Given the description of an element on the screen output the (x, y) to click on. 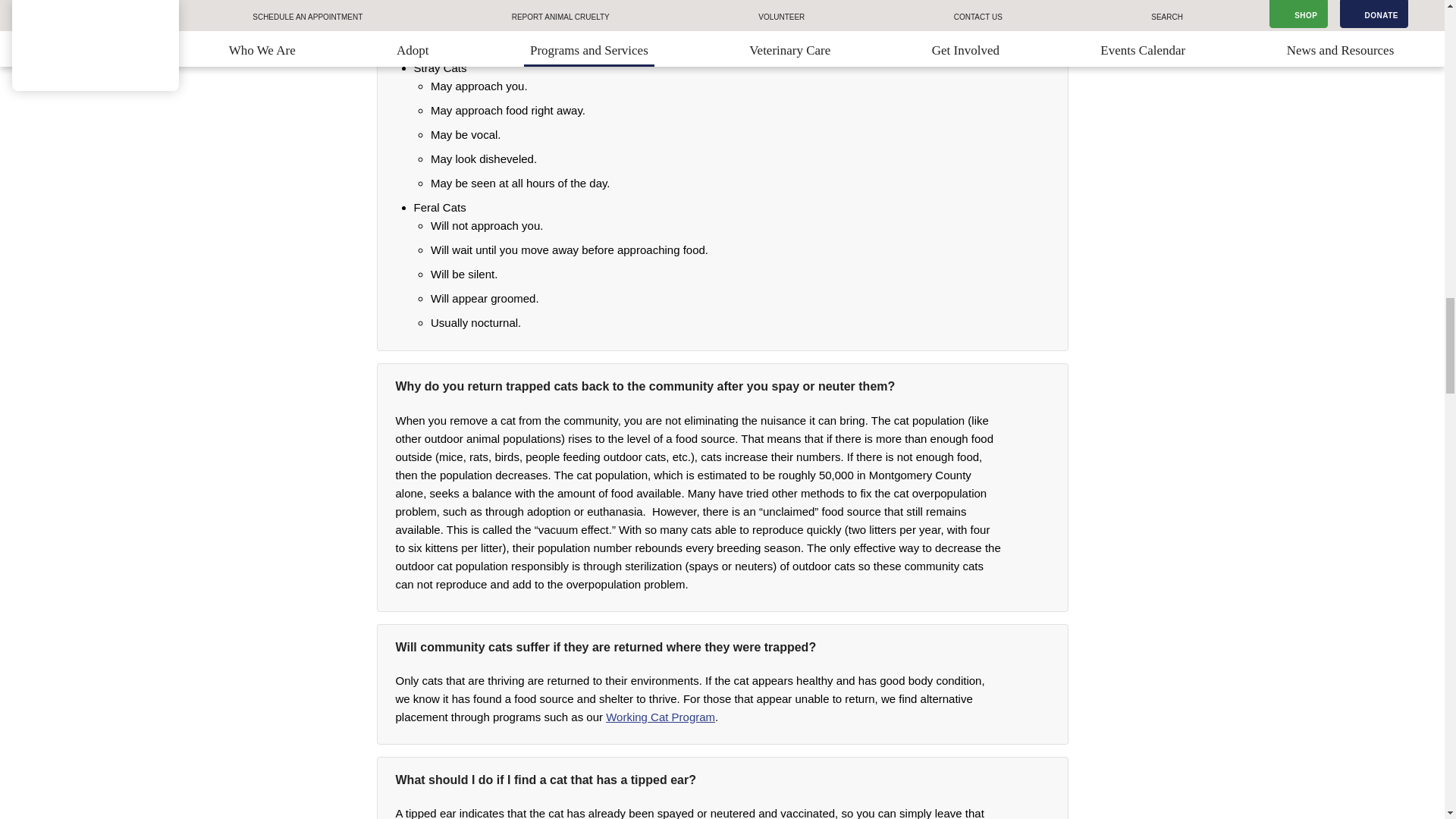
Working Cat Program (659, 716)
